Given the description of an element on the screen output the (x, y) to click on. 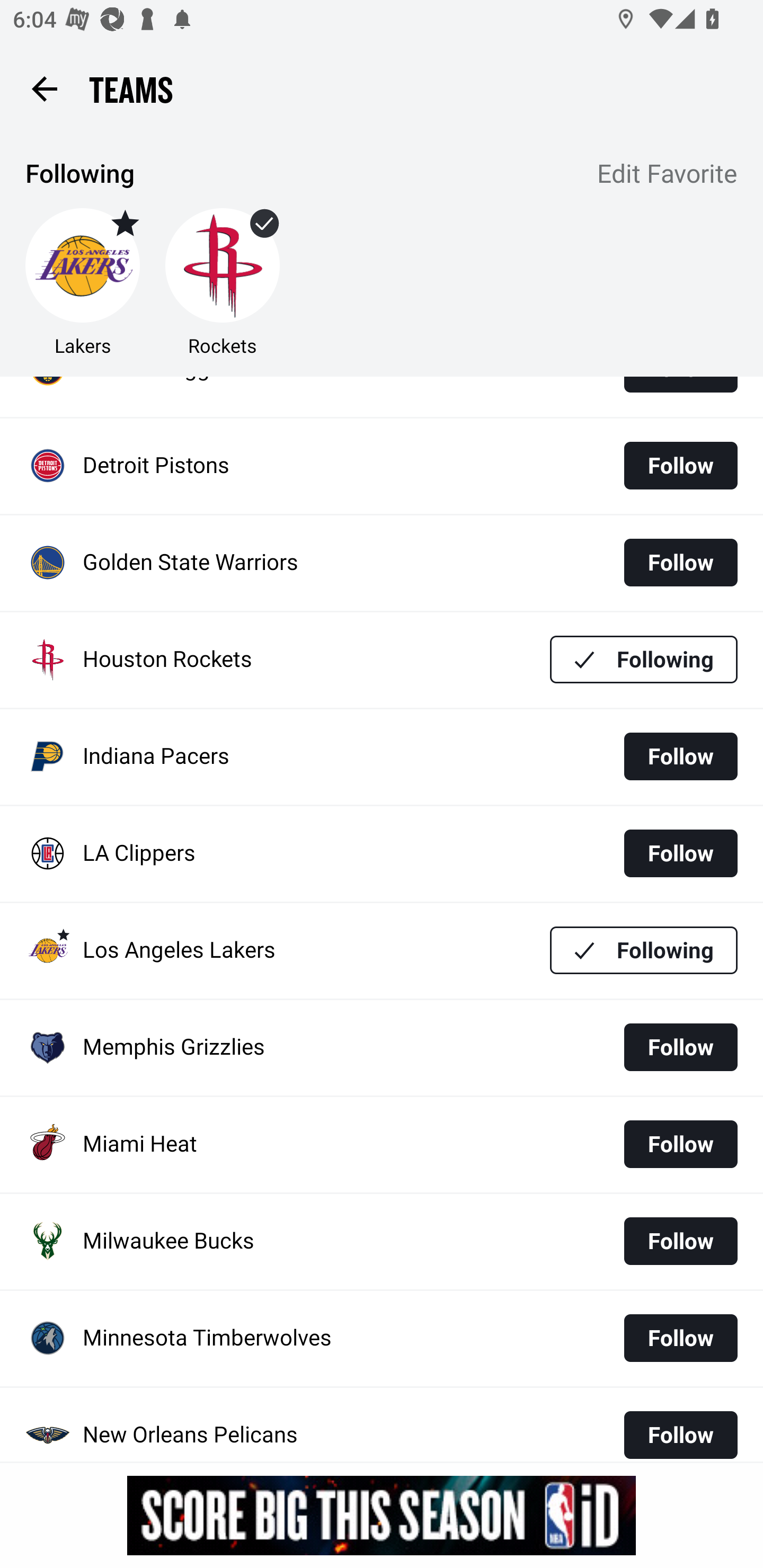
Back button (44, 88)
Edit Favorite (667, 175)
Detroit Pistons Follow (381, 466)
Follow (680, 465)
Golden State Warriors Follow (381, 563)
Follow (680, 561)
Houston Rockets Following (381, 660)
Following (643, 658)
Indiana Pacers Follow (381, 756)
Follow (680, 756)
LA Clippers Follow (381, 853)
Follow (680, 853)
Los Angeles Lakers Following (381, 950)
Following (643, 949)
Memphis Grizzlies Follow (381, 1048)
Follow (680, 1047)
Miami Heat Follow (381, 1144)
Follow (680, 1143)
Milwaukee Bucks Follow (381, 1240)
Follow (680, 1240)
Minnesota Timberwolves Follow (381, 1338)
Follow (680, 1337)
New Orleans Pelicans Follow (381, 1424)
Follow (680, 1429)
g5nqqygr7owph (381, 1515)
